Given the description of an element on the screen output the (x, y) to click on. 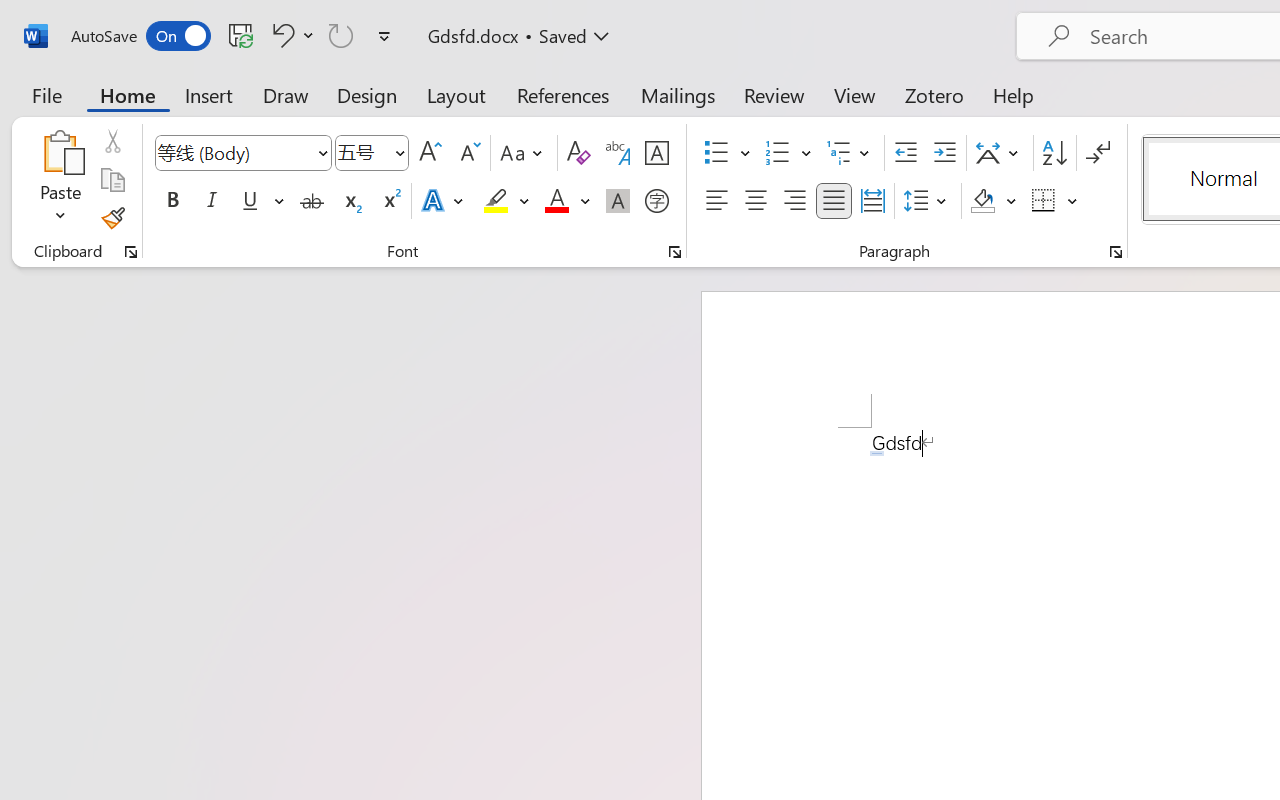
Font... (675, 252)
Shading RGB(0, 0, 0) (982, 201)
Can't Repeat (341, 35)
Decrease Indent (906, 153)
Cut (112, 141)
Superscript (390, 201)
Phonetic Guide... (618, 153)
